Given the description of an element on the screen output the (x, y) to click on. 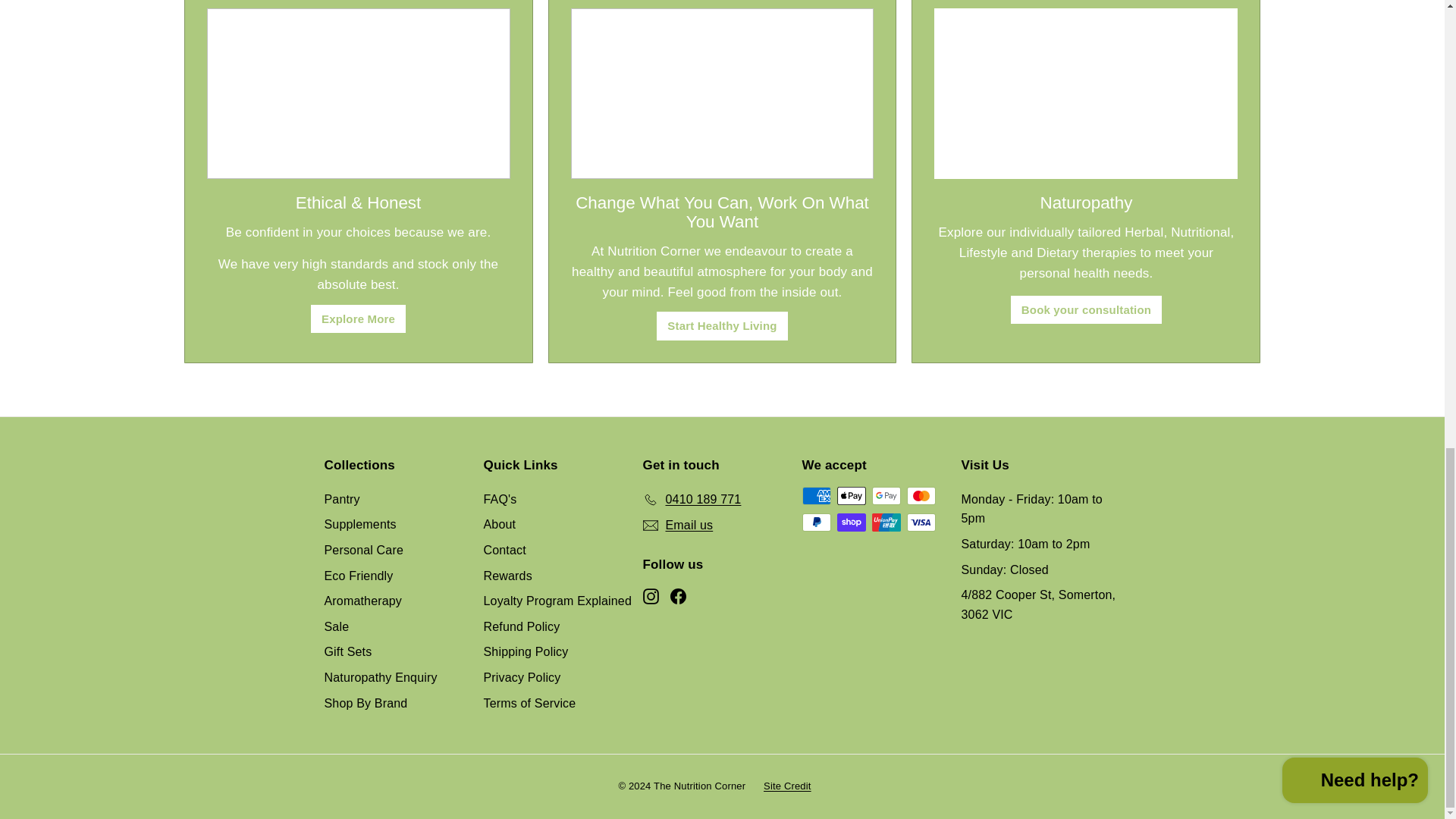
PayPal (816, 522)
Mastercard (921, 495)
Shop Pay (851, 522)
American Express (816, 495)
Google Pay (886, 495)
Apple Pay (851, 495)
